Given the description of an element on the screen output the (x, y) to click on. 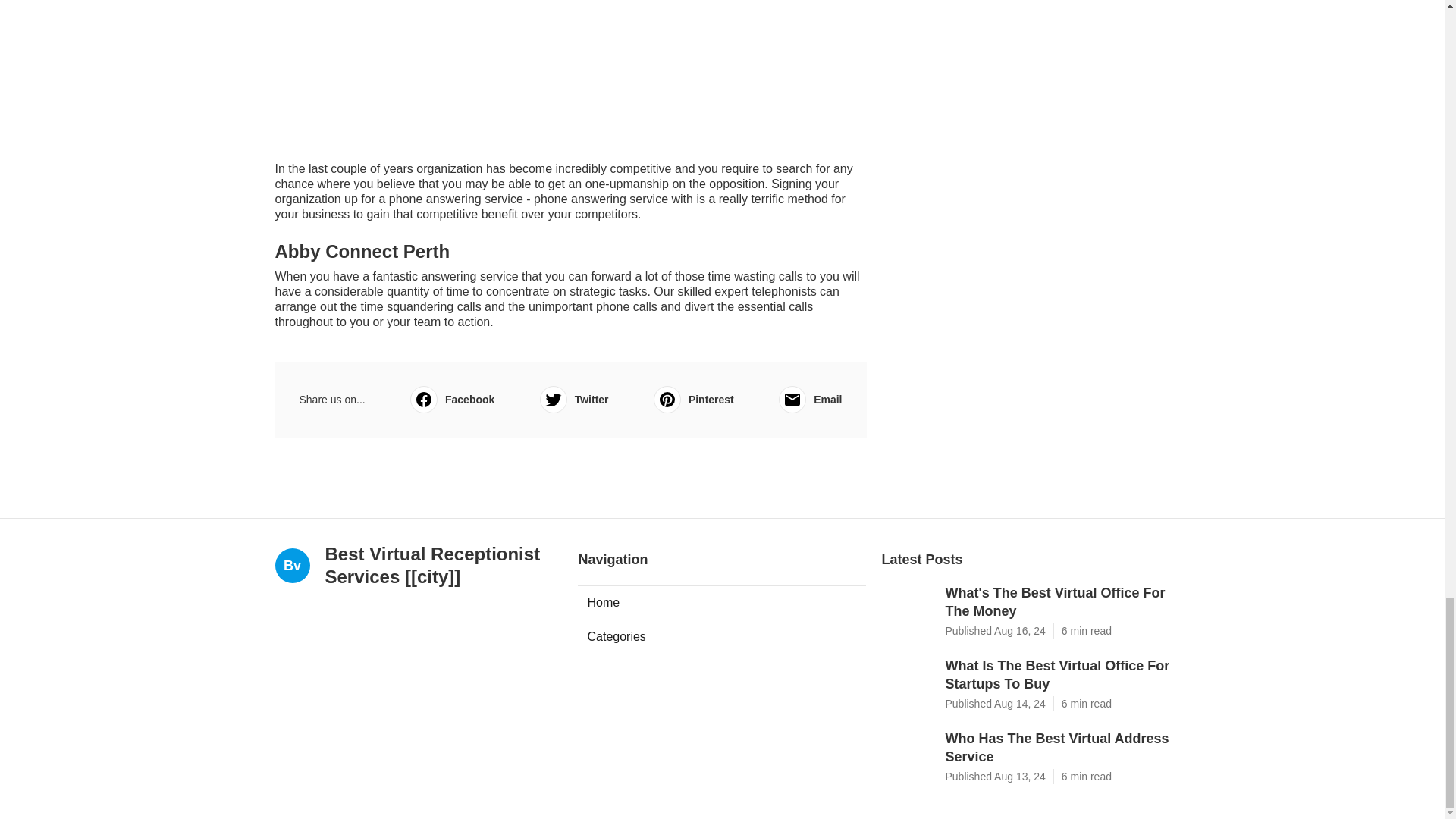
Email (809, 399)
Twitter (574, 399)
phone answering service (455, 198)
Facebook (452, 399)
Pinterest (693, 399)
